Given the description of an element on the screen output the (x, y) to click on. 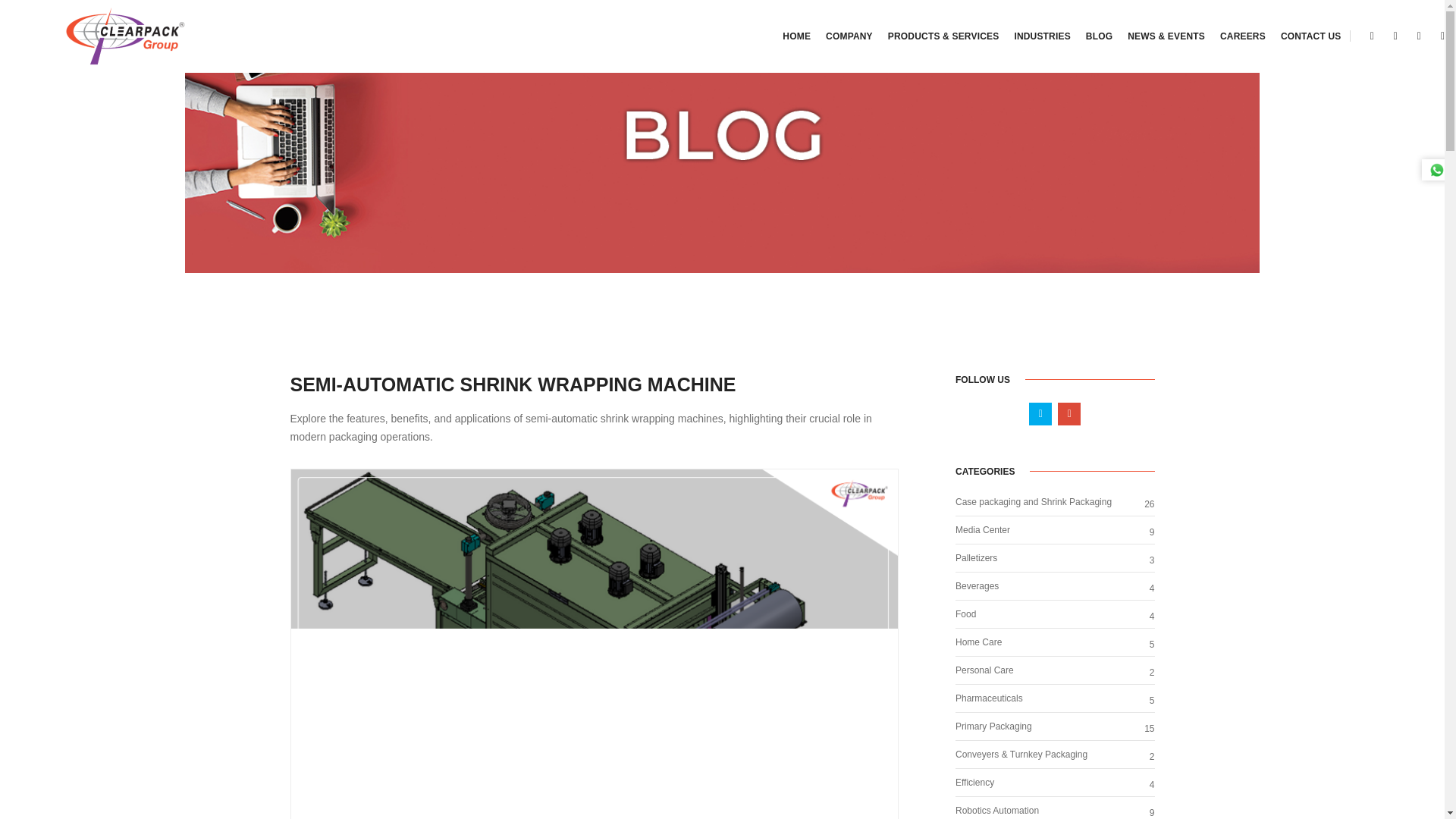
YouTube (1396, 35)
COMPANY (848, 36)
YouTube (1419, 35)
Linkedin (1371, 35)
Clearpack (109, 36)
HOME (796, 36)
